Given the description of an element on the screen output the (x, y) to click on. 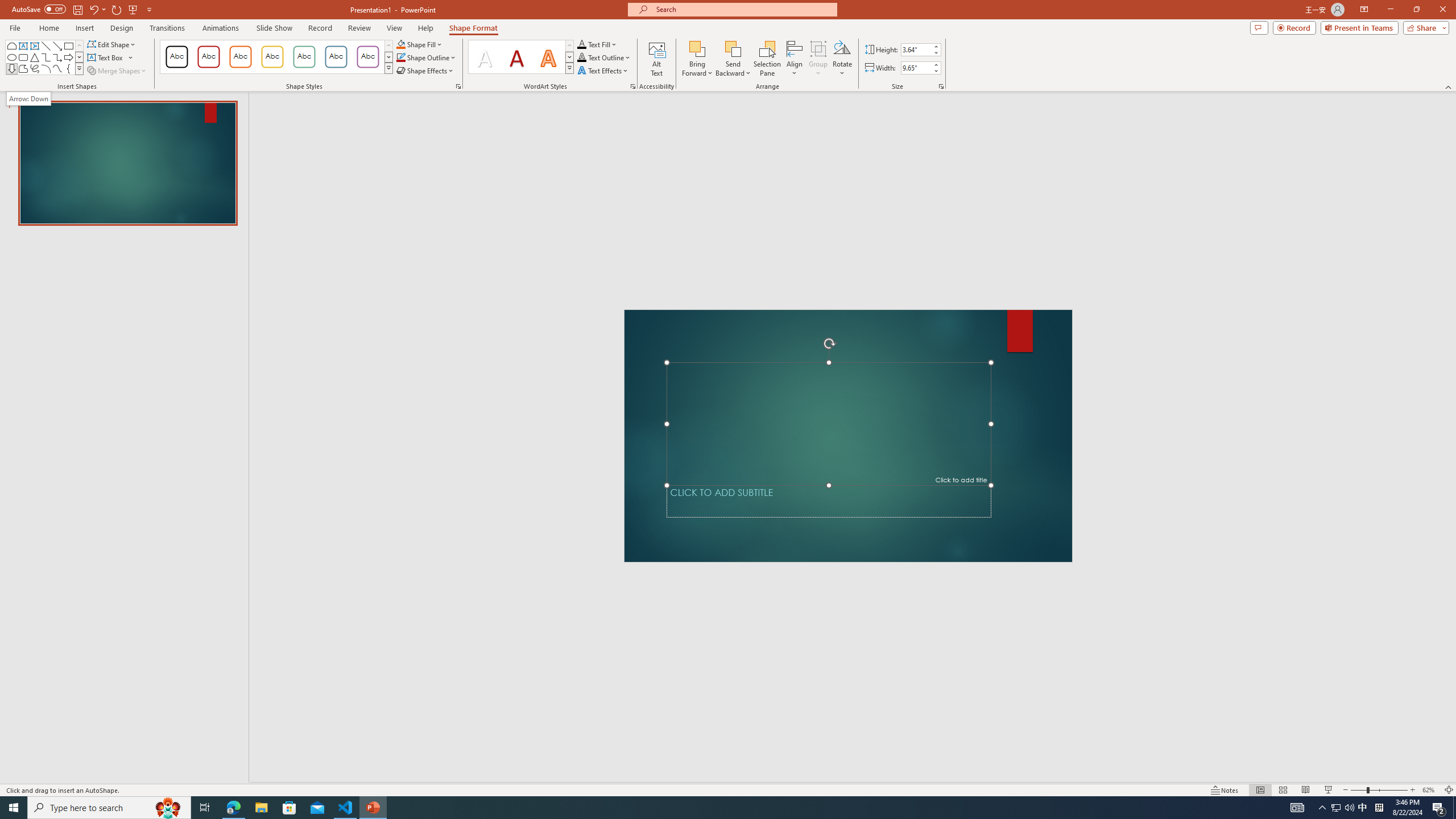
Shape Width (915, 67)
Format Text Effects... (632, 85)
Rectangle: Rounded Corners (23, 57)
More (935, 64)
Size and Position... (941, 85)
Freeform: Scribble (34, 68)
